Given the description of an element on the screen output the (x, y) to click on. 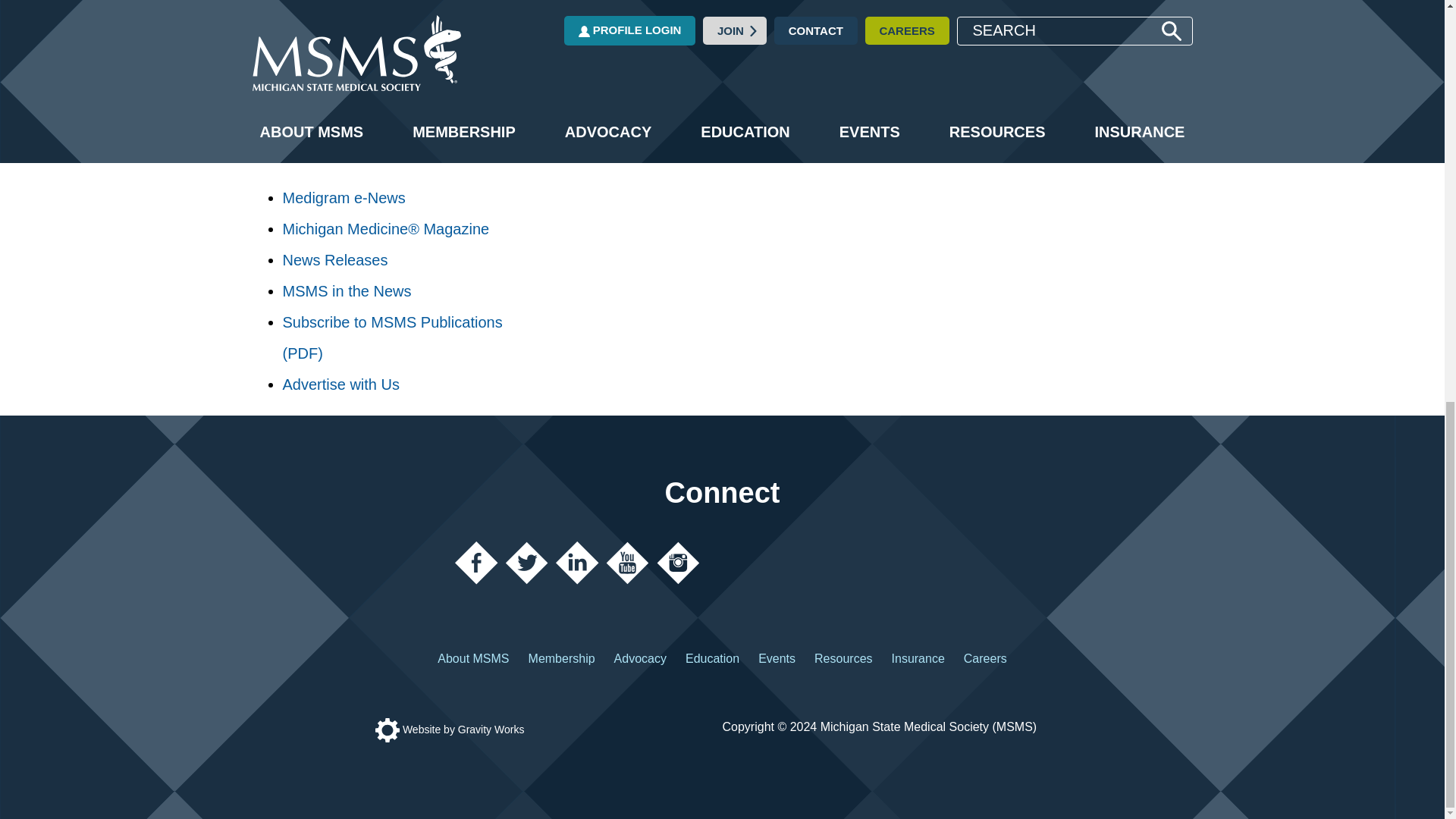
Kerr Russell-Attorneys At Law (394, 121)
